Given the description of an element on the screen output the (x, y) to click on. 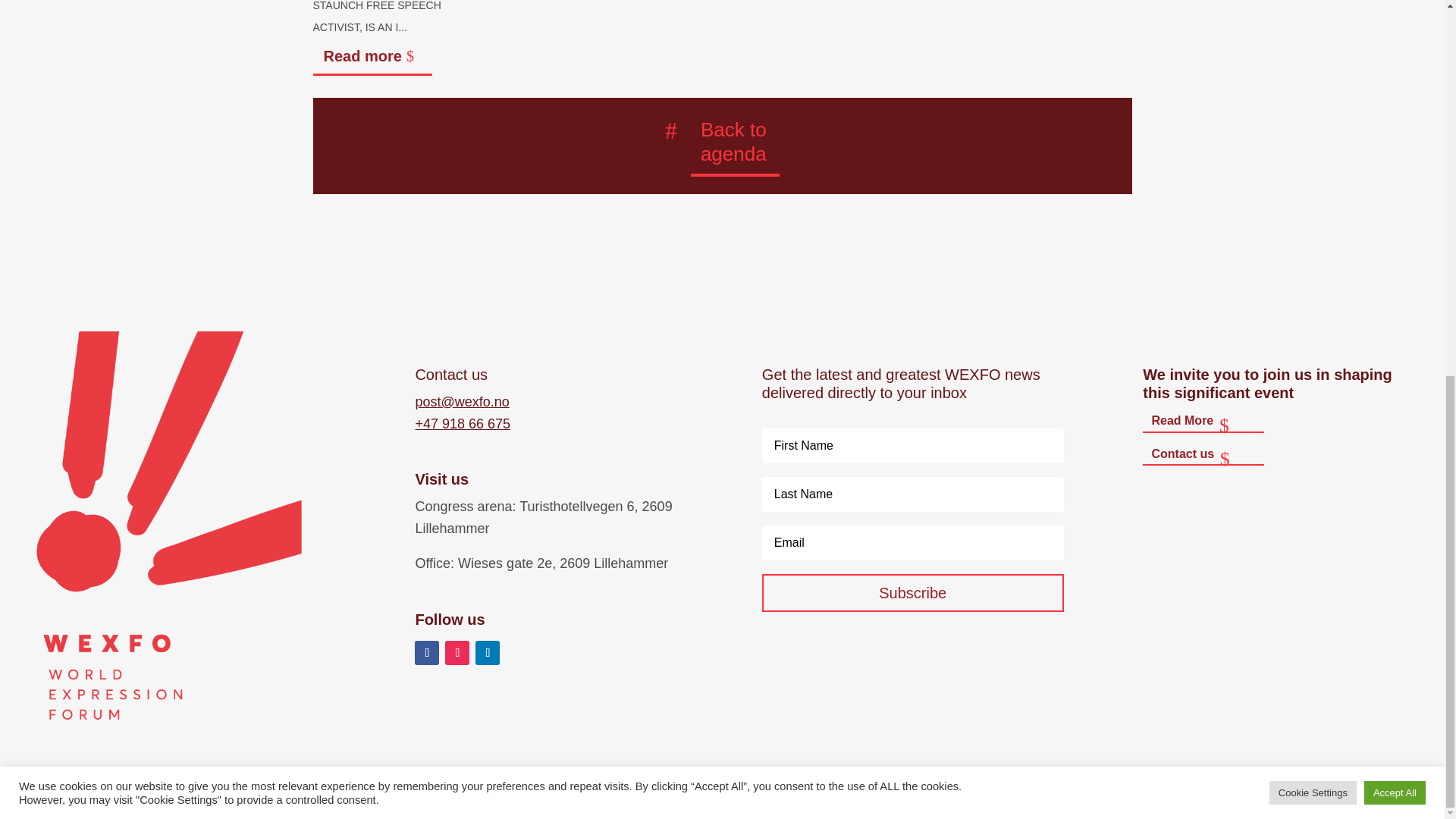
Follow on Instagram (456, 652)
Follow on LinkedIn (487, 652)
Follow on Facebook (426, 652)
